Given the description of an element on the screen output the (x, y) to click on. 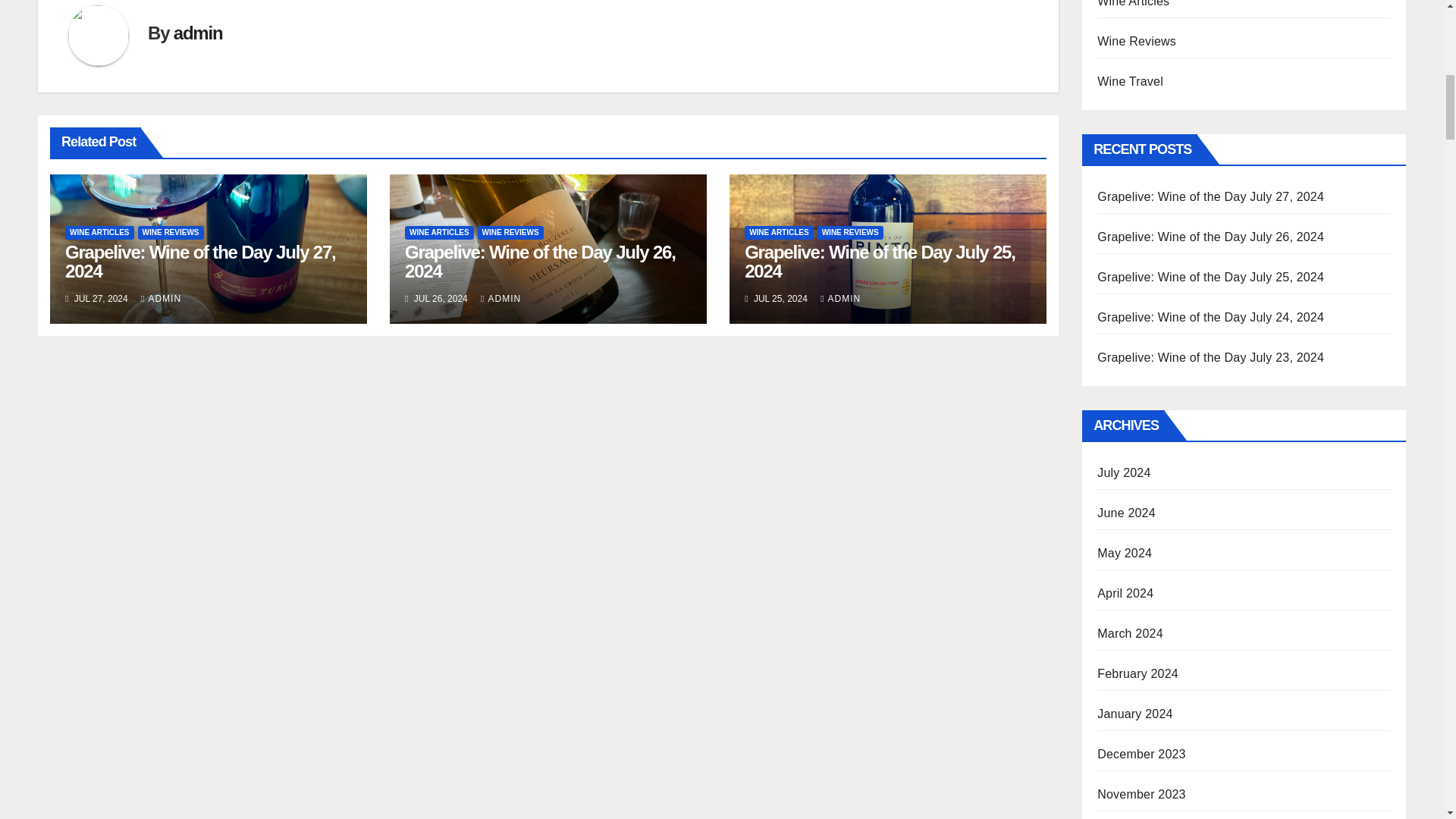
Permalink to: Grapelive: Wine of the Day July 25, 2024 (879, 261)
ADMIN (160, 298)
Permalink to: Grapelive: Wine of the Day July 26, 2024 (539, 261)
WINE ARTICLES (99, 232)
WINE REVIEWS (170, 232)
Grapelive: Wine of the Day July 27, 2024 (200, 261)
WINE ARTICLES (439, 232)
Permalink to: Grapelive: Wine of the Day July 27, 2024 (200, 261)
admin (197, 32)
